Given the description of an element on the screen output the (x, y) to click on. 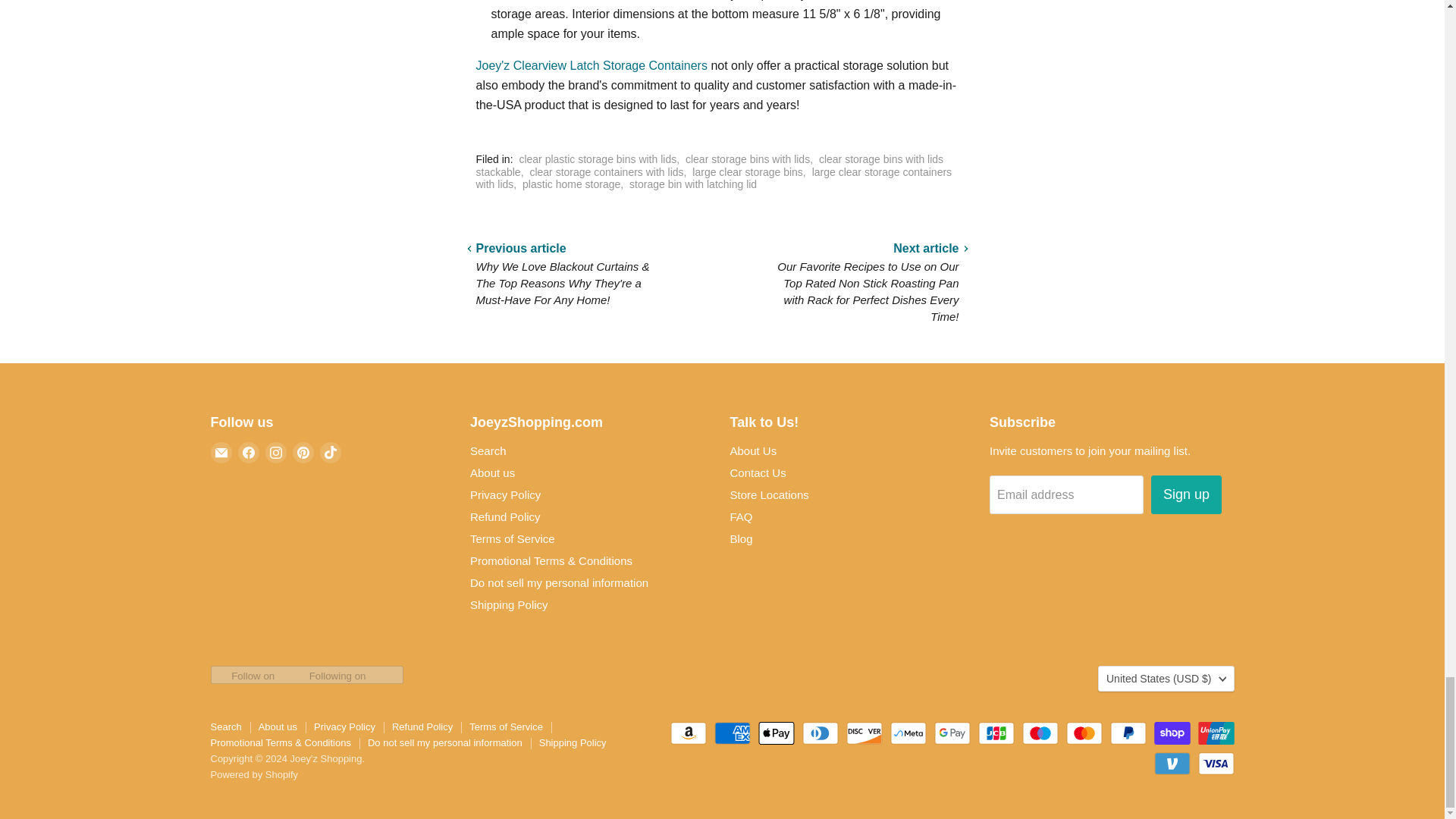
Joey'z Clearview Latch Storage Containers (591, 65)
Show articles tagged plastic home storage (571, 184)
Show articles tagged storage bin with latching lid (692, 184)
TikTok (330, 452)
clear storage bins with lids stackable (709, 165)
Email (221, 452)
Apple Pay (776, 732)
Pinterest (303, 452)
Facebook (248, 452)
